Given the description of an element on the screen output the (x, y) to click on. 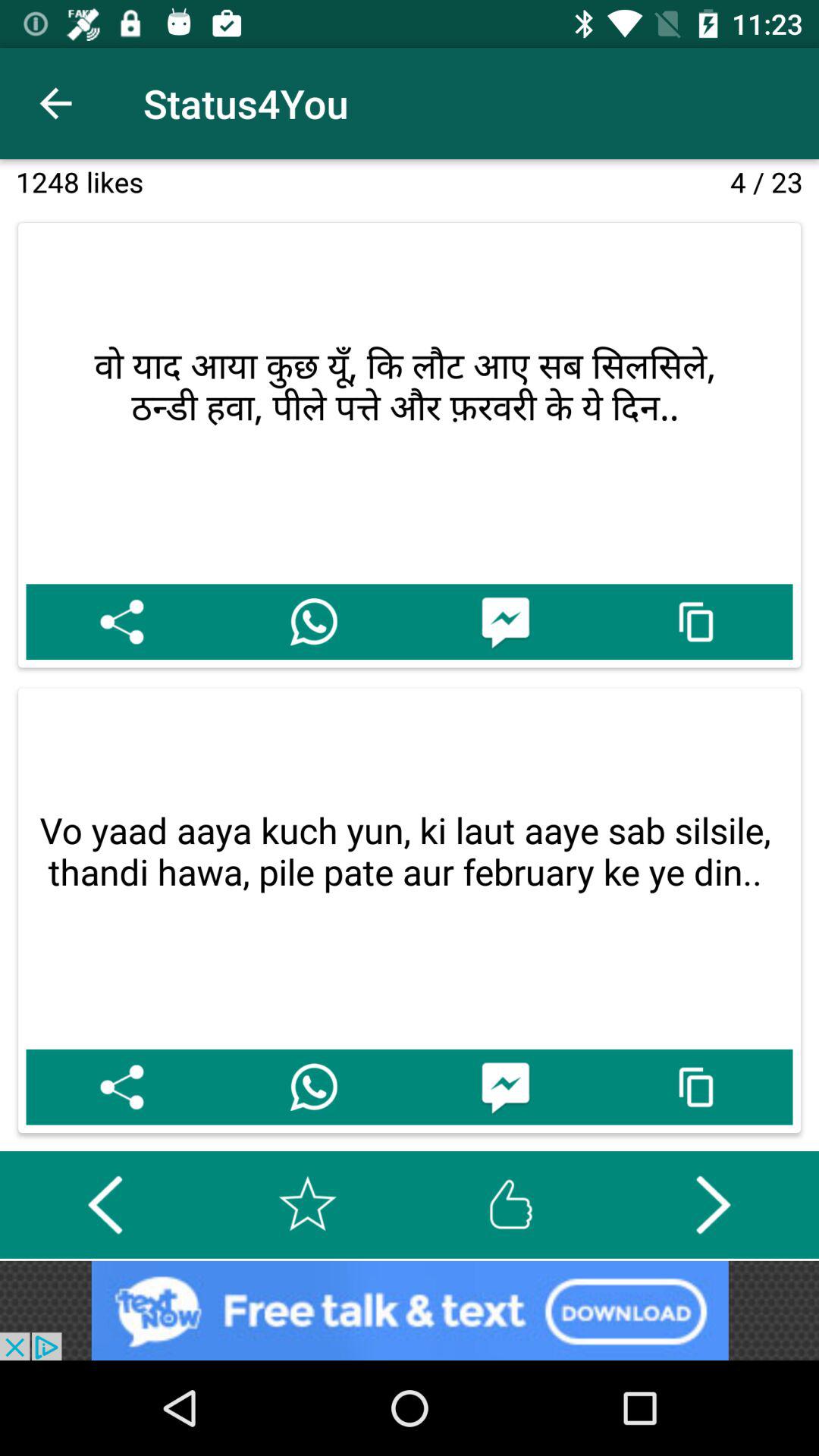
mark this page as important (307, 1204)
